Given the description of an element on the screen output the (x, y) to click on. 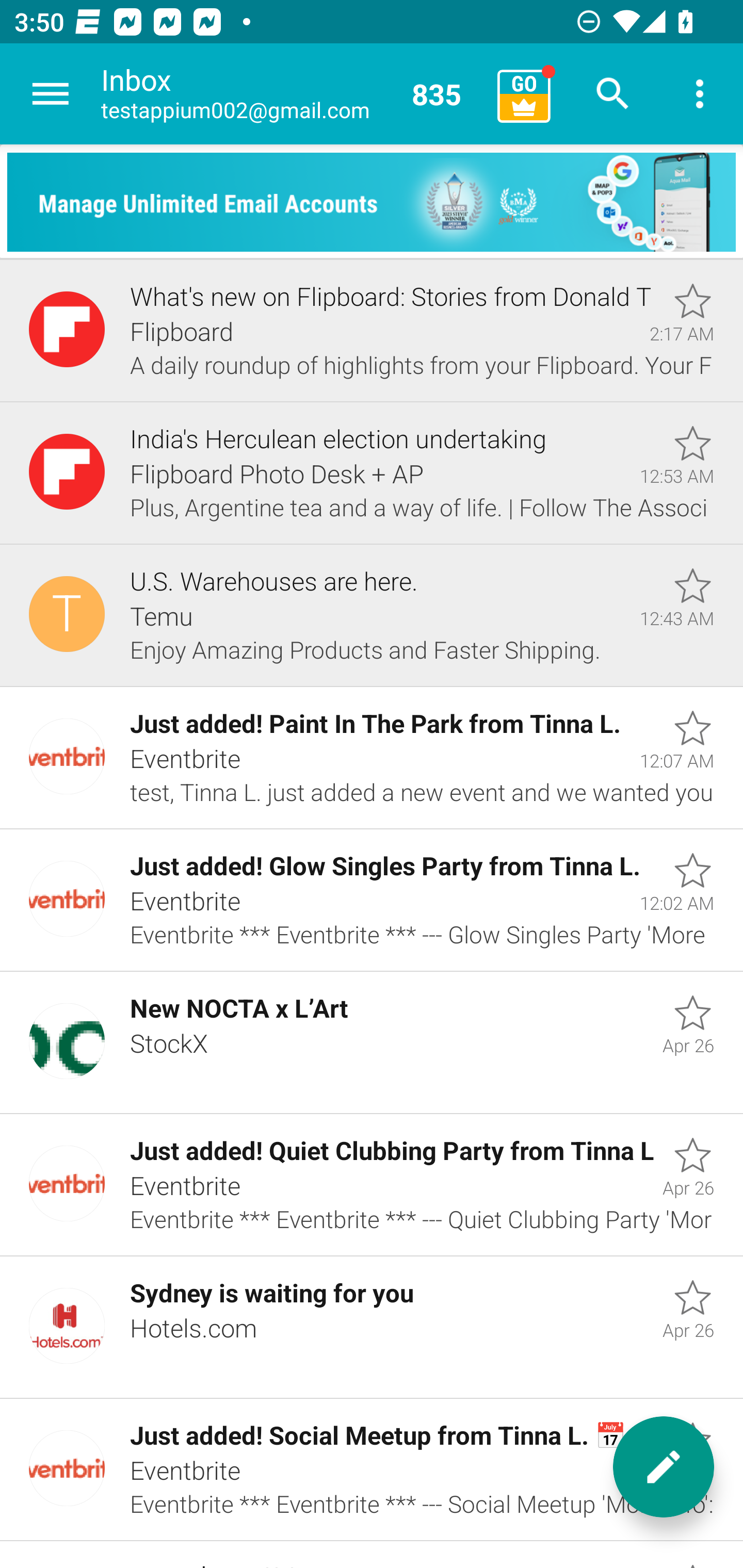
Navigate up (50, 93)
Inbox testappium002@gmail.com 835 (291, 93)
Search (612, 93)
More options (699, 93)
Unread, New NOCTA x L’Art, StockX, Apr 26 (371, 1043)
New message (663, 1466)
